Given the description of an element on the screen output the (x, y) to click on. 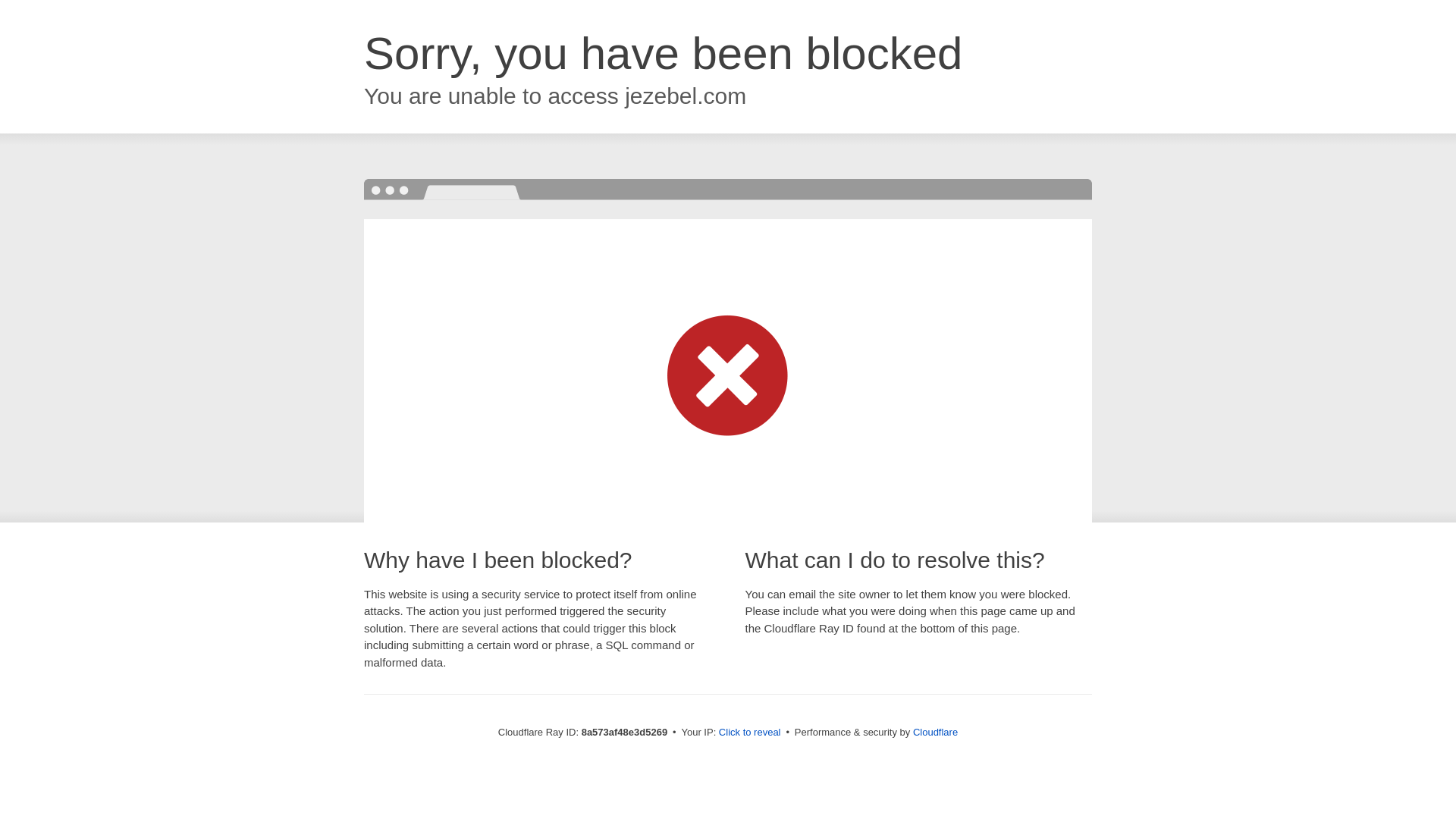
Click to reveal (749, 732)
Cloudflare (935, 731)
